Given the description of an element on the screen output the (x, y) to click on. 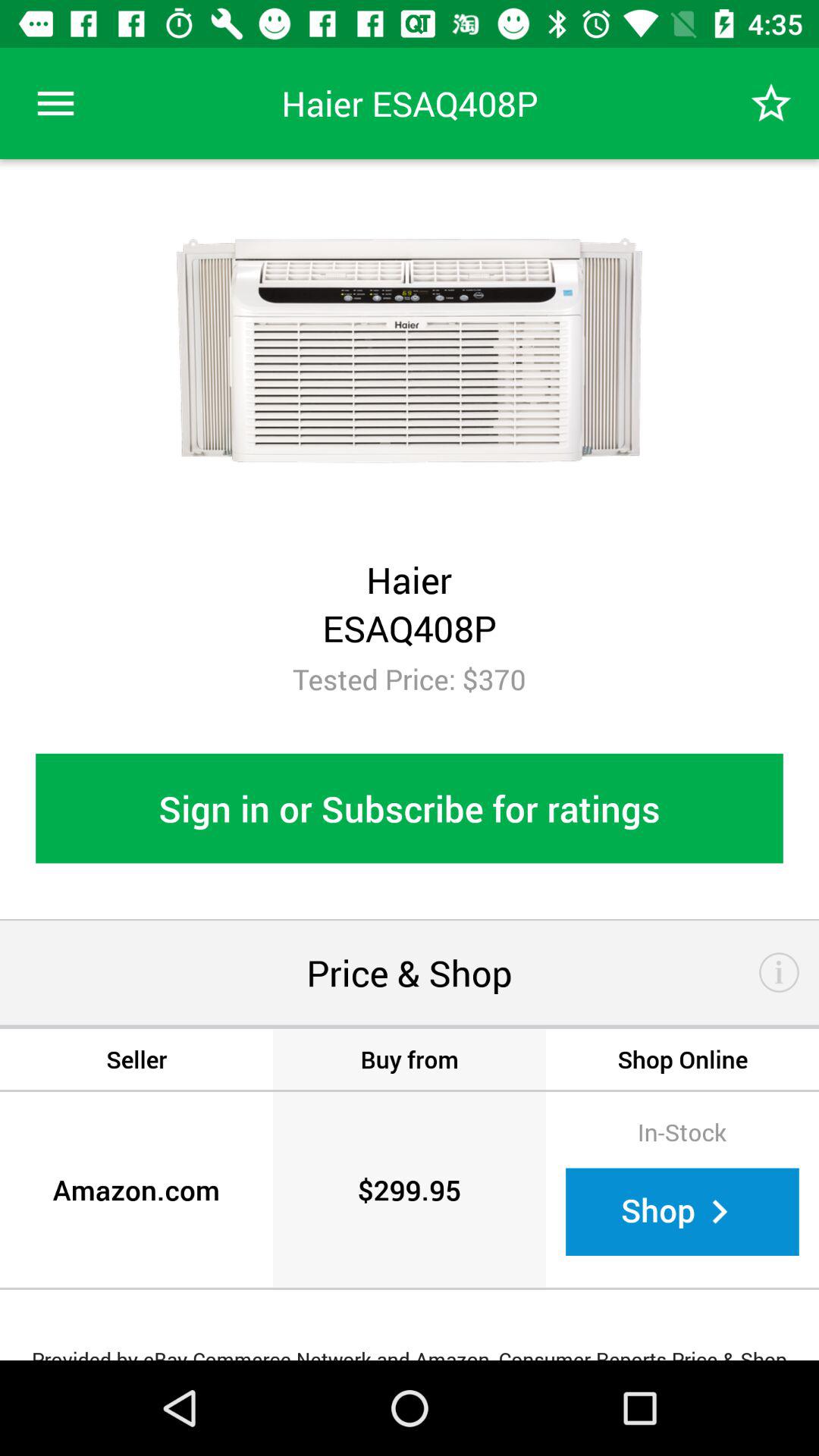
tap sign in or (409, 808)
